Given the description of an element on the screen output the (x, y) to click on. 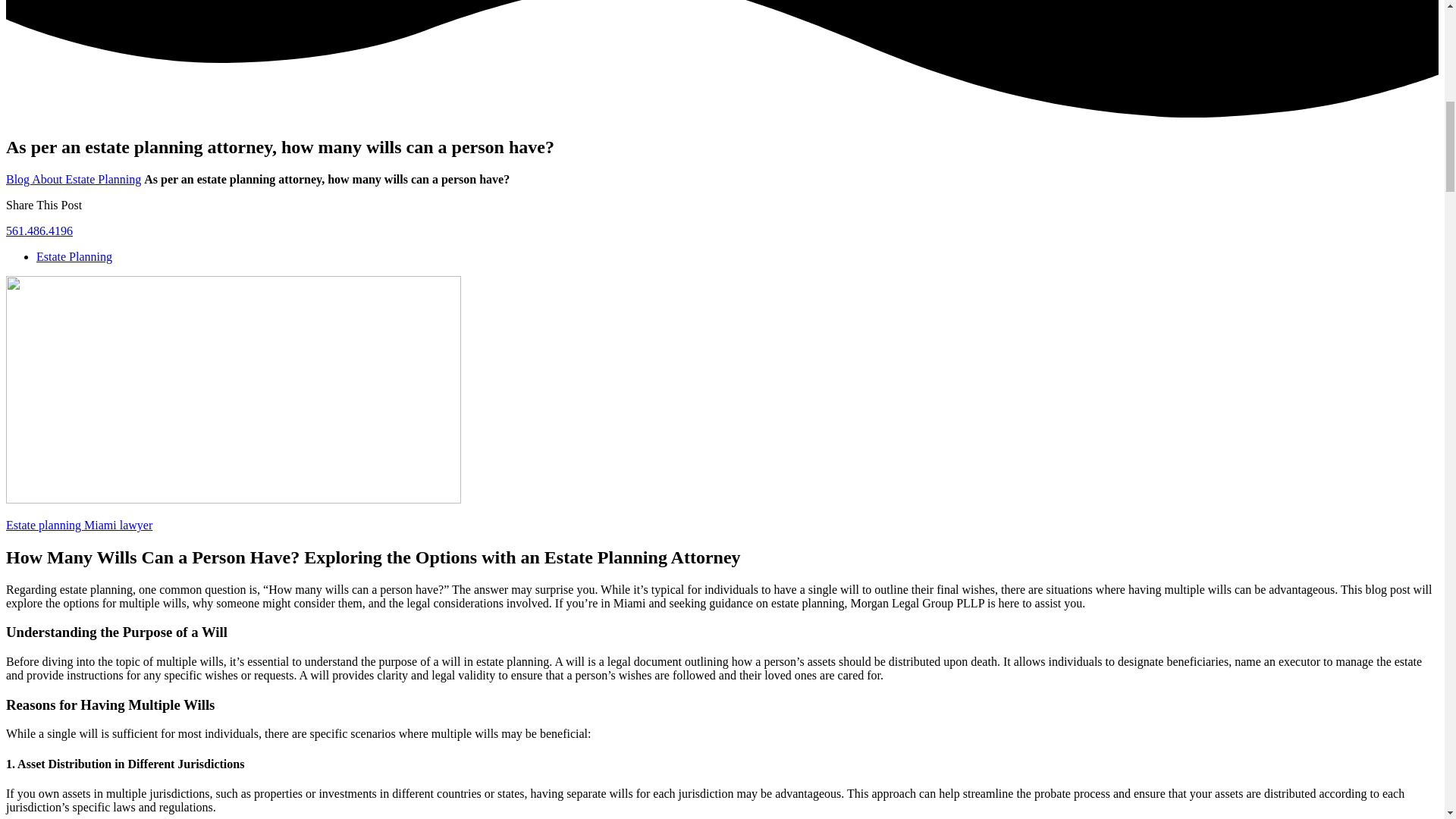
Estate planning Miami lawyer (78, 524)
Estate Planning (74, 256)
Blog About Estate Planning (73, 178)
561.486.4196 (38, 230)
